Given the description of an element on the screen output the (x, y) to click on. 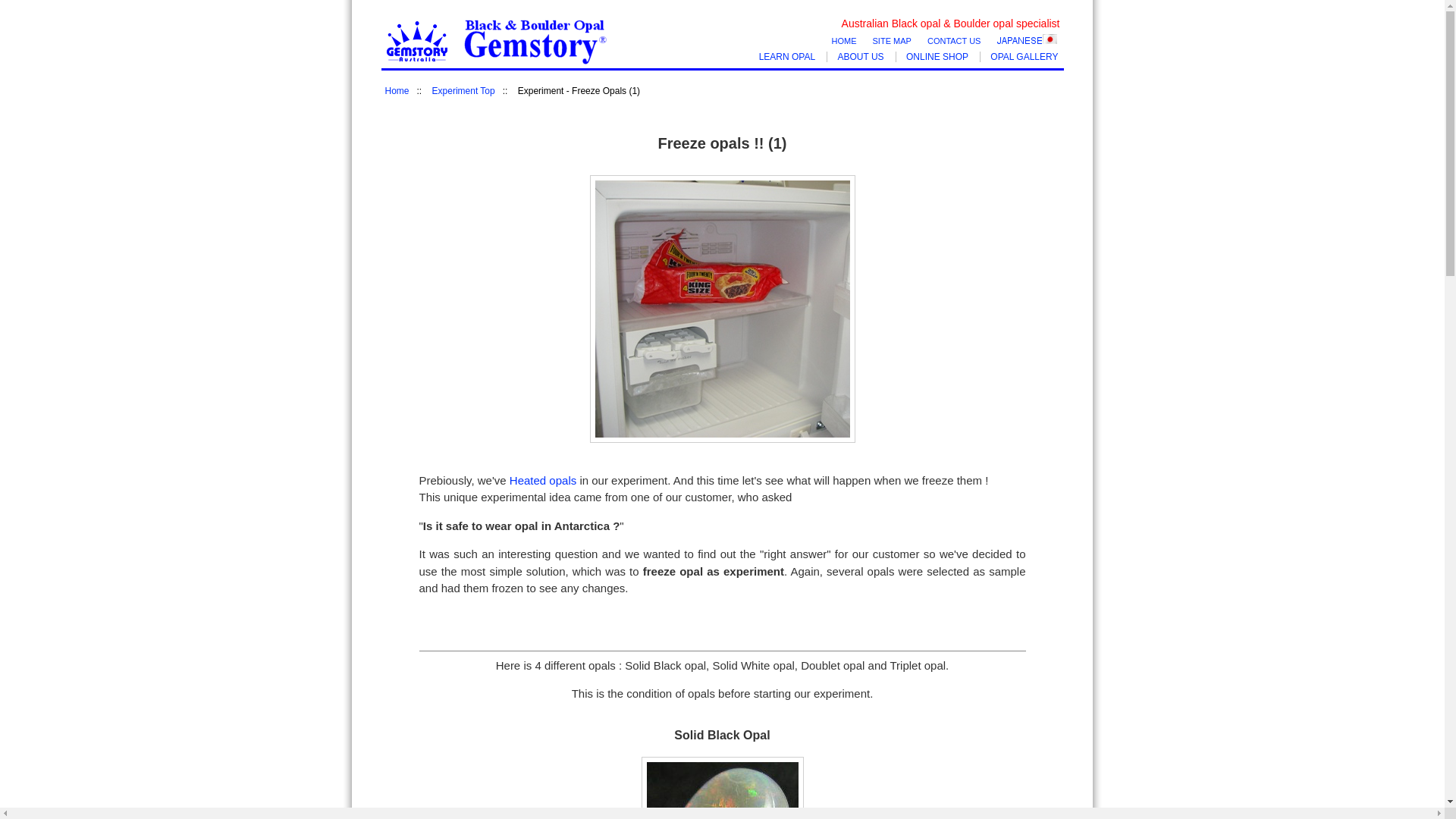
LEARN OPAL Element type: text (787, 56)
CONTACT US Element type: text (954, 40)
HOME Element type: text (843, 40)
Experiment Top Element type: text (463, 90)
ABOUT US Element type: text (860, 56)
SITE MAP Element type: text (891, 40)
Heated opals Element type: text (542, 479)
OPAL GALLERY Element type: text (1023, 56)
ONLINE SHOP Element type: text (937, 56)
Home Element type: text (397, 90)
